Given the description of an element on the screen output the (x, y) to click on. 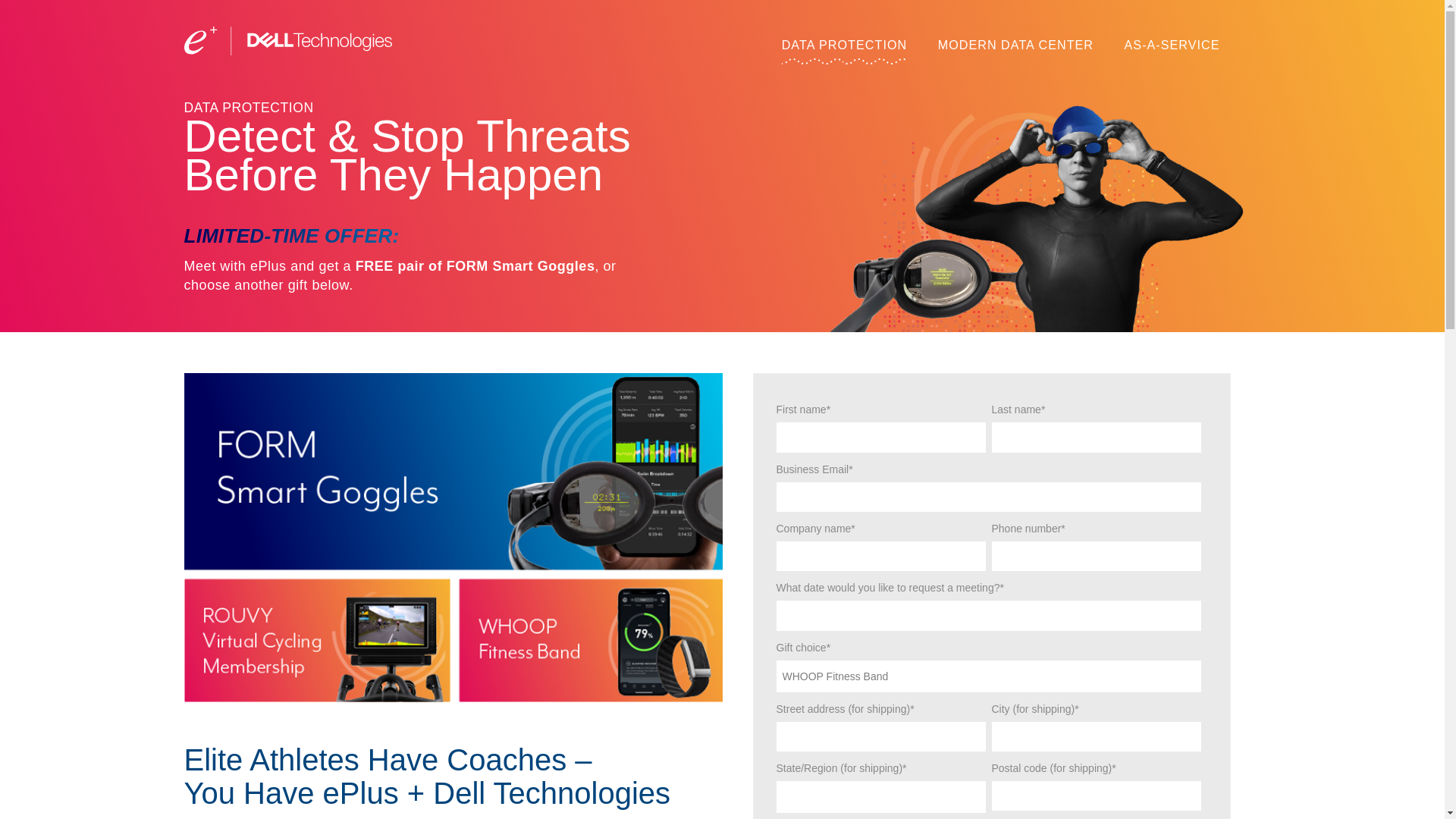
MODERN DATA CENTER (1015, 44)
DATA PROTECTION (844, 44)
AS-A-SERVICE (1172, 44)
